Given the description of an element on the screen output the (x, y) to click on. 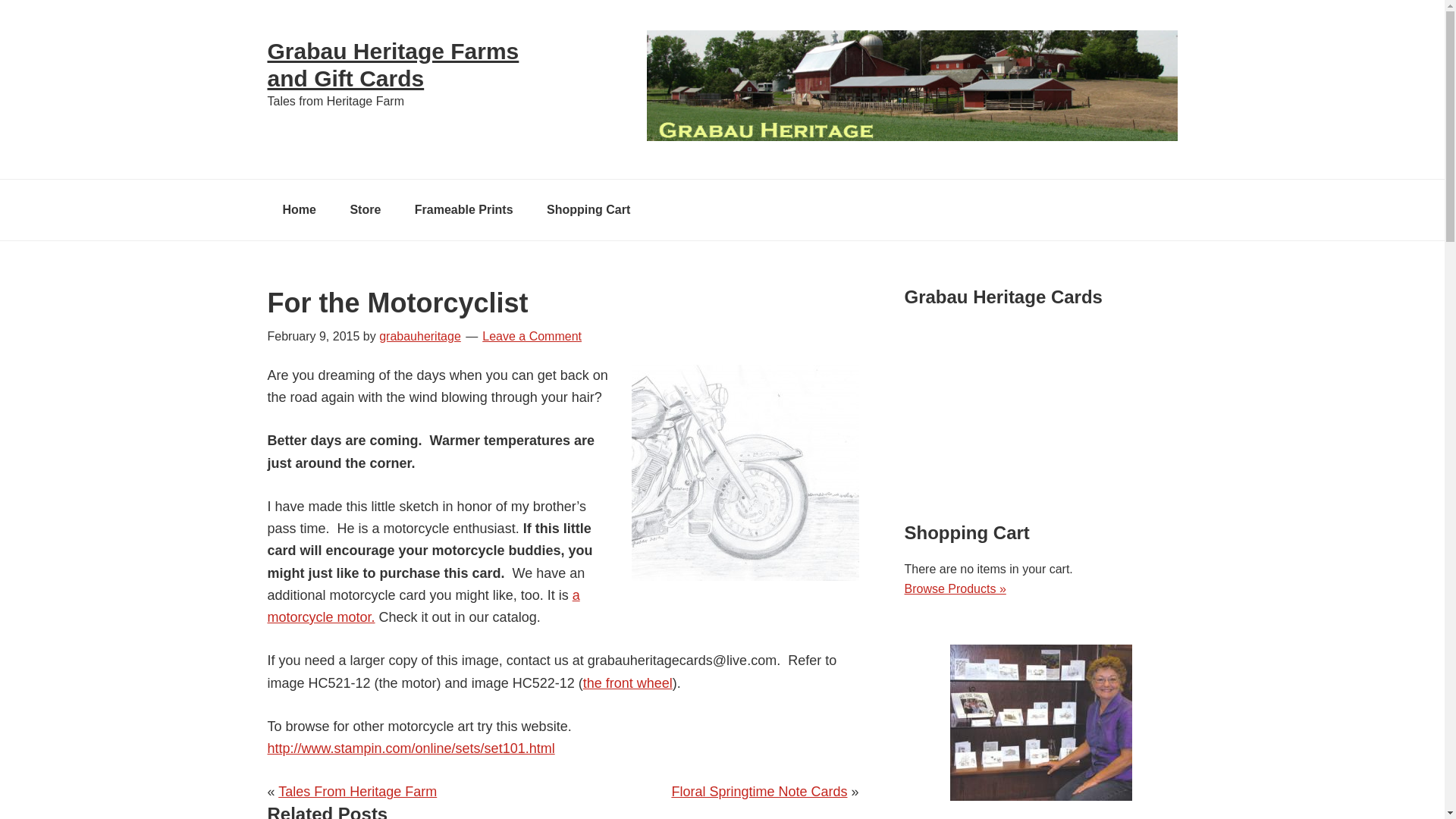
the front wheel (627, 683)
Leave a Comment (530, 336)
Frameable Prints (463, 209)
grabauheritage (419, 336)
Floral Springtime Note Cards (759, 791)
Home (298, 209)
Shopping Cart (588, 209)
Grabau Heritage Farms and Gift Cards (392, 64)
Motorcycle photo scan front wheel (744, 472)
Store (365, 209)
